Given the description of an element on the screen output the (x, y) to click on. 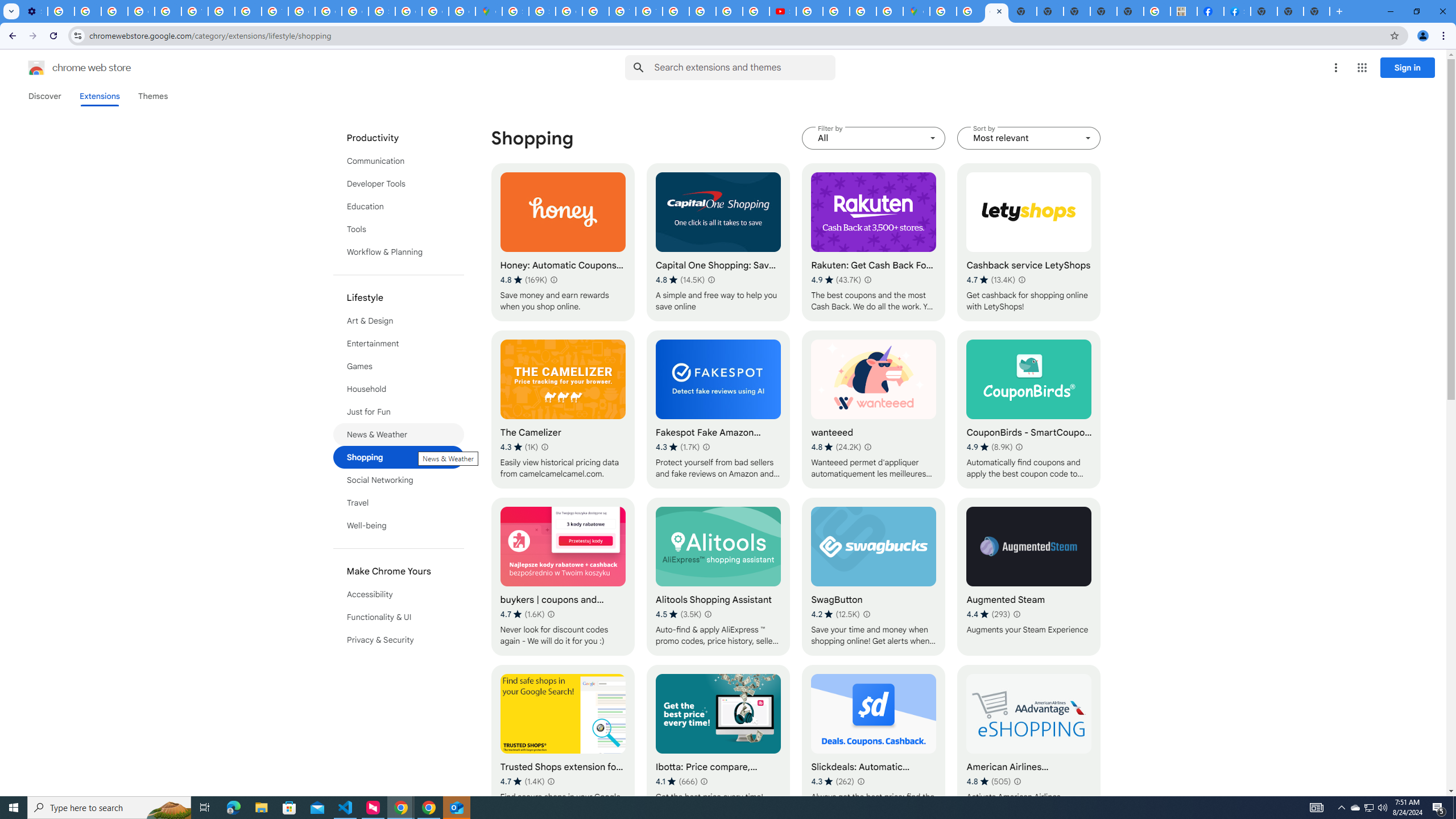
Sort by Most relevant (1028, 137)
